Given the description of an element on the screen output the (x, y) to click on. 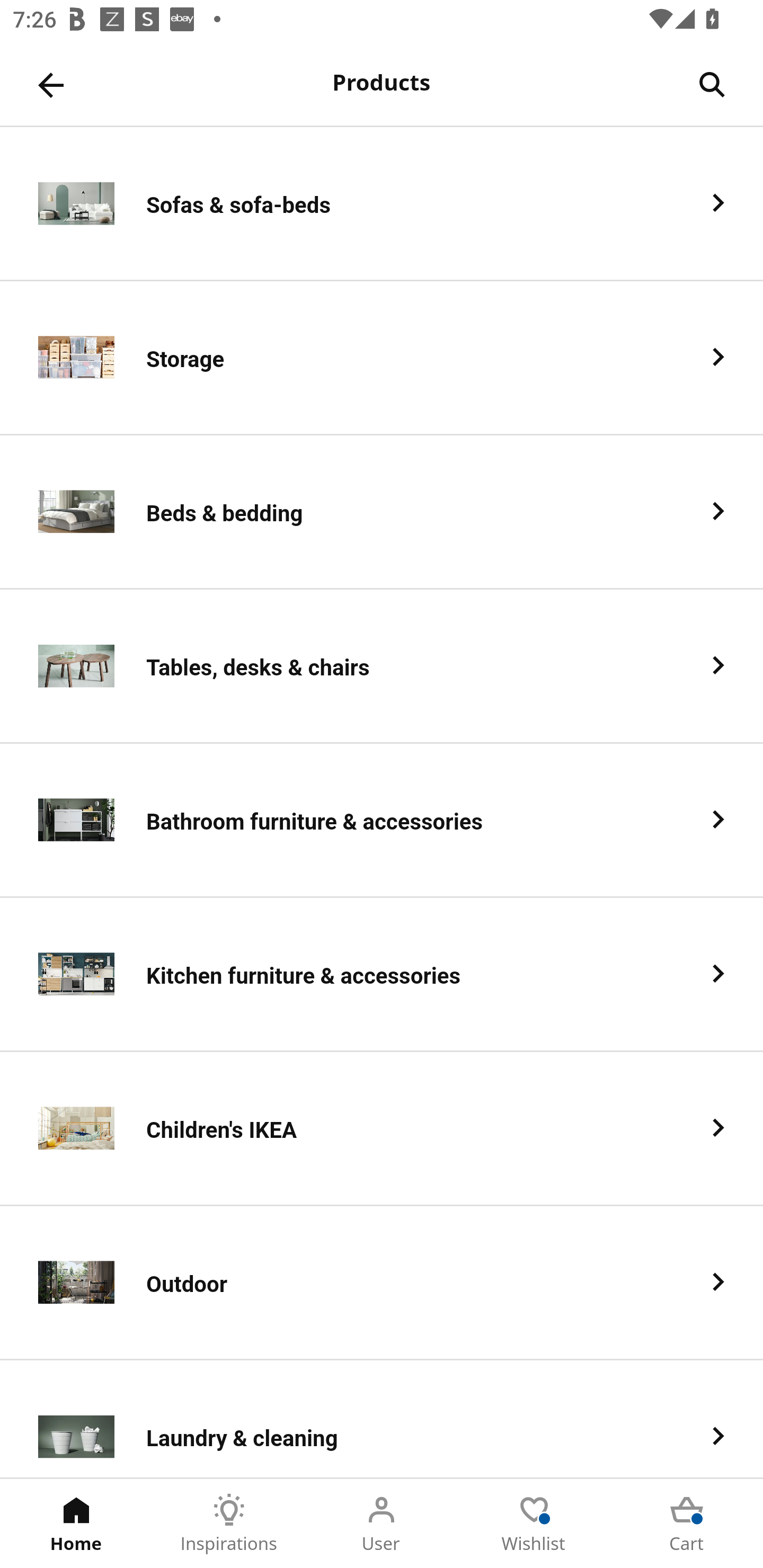
Sofas & sofa-beds (381, 203)
Storage (381, 357)
Beds & bedding (381, 512)
Tables, desks & chairs (381, 666)
Bathroom furniture & accessories (381, 820)
Kitchen furniture & accessories (381, 975)
Children's IKEA (381, 1128)
Outdoor (381, 1283)
Laundry & cleaning (381, 1419)
Home
Tab 1 of 5 (76, 1522)
Inspirations
Tab 2 of 5 (228, 1522)
User
Tab 3 of 5 (381, 1522)
Wishlist
Tab 4 of 5 (533, 1522)
Cart
Tab 5 of 5 (686, 1522)
